Given the description of an element on the screen output the (x, y) to click on. 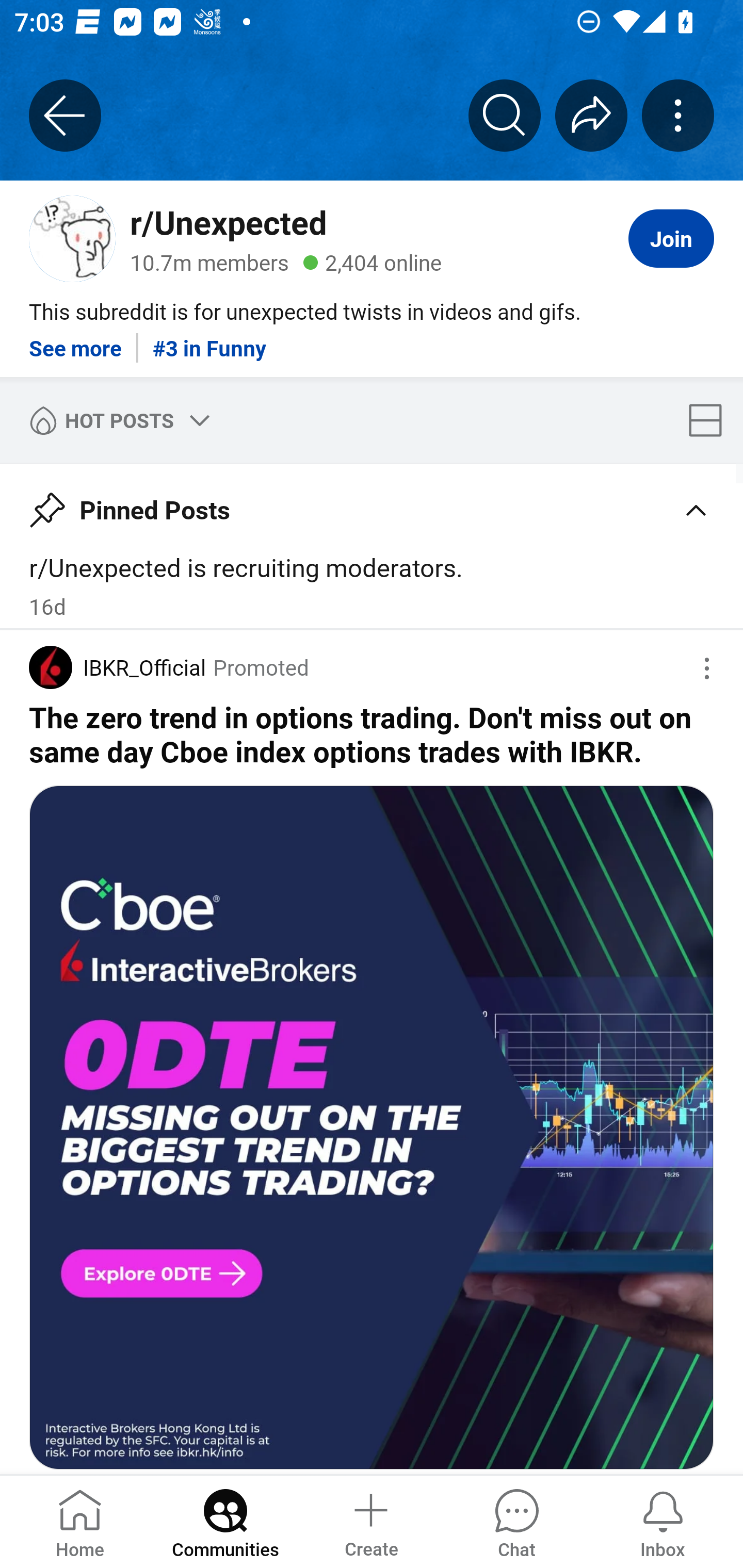
Back (64, 115)
Search r/﻿Unexpected (504, 115)
Share r/﻿Unexpected (591, 115)
More community actions (677, 115)
See more (74, 340)
#3 in Funny (209, 340)
HOT POSTS Sort by Hot posts (115, 420)
Card display (711, 420)
Pin Pinned Posts Caret (371, 503)
r/Unexpected is recruiting moderators. 16d (371, 585)
Author IBKR_Official (116, 666)
Image (371, 1127)
Home (80, 1520)
Communities (225, 1520)
Create a post Create (370, 1520)
Chat (516, 1520)
Inbox (662, 1520)
